Given the description of an element on the screen output the (x, y) to click on. 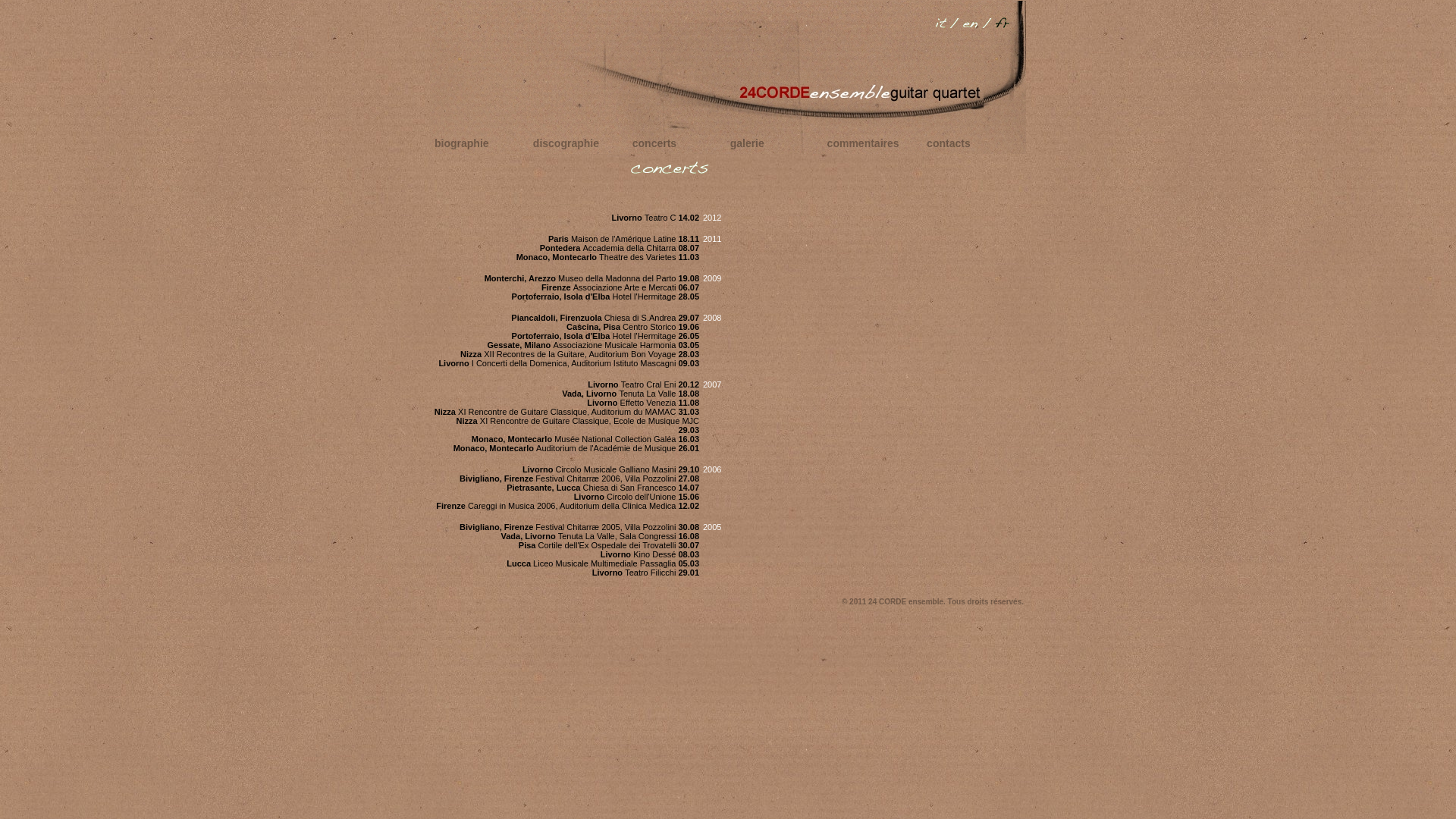
galerie Element type: text (747, 143)
commentaires Element type: text (863, 143)
discographie Element type: text (566, 143)
concerts Element type: text (654, 143)
biographie Element type: text (461, 143)
contacts Element type: text (948, 143)
Livorno Teatro C 14.02 Element type: text (655, 217)
Pontedera Accademia della Chitarra 08.07 Element type: text (619, 247)
